Given the description of an element on the screen output the (x, y) to click on. 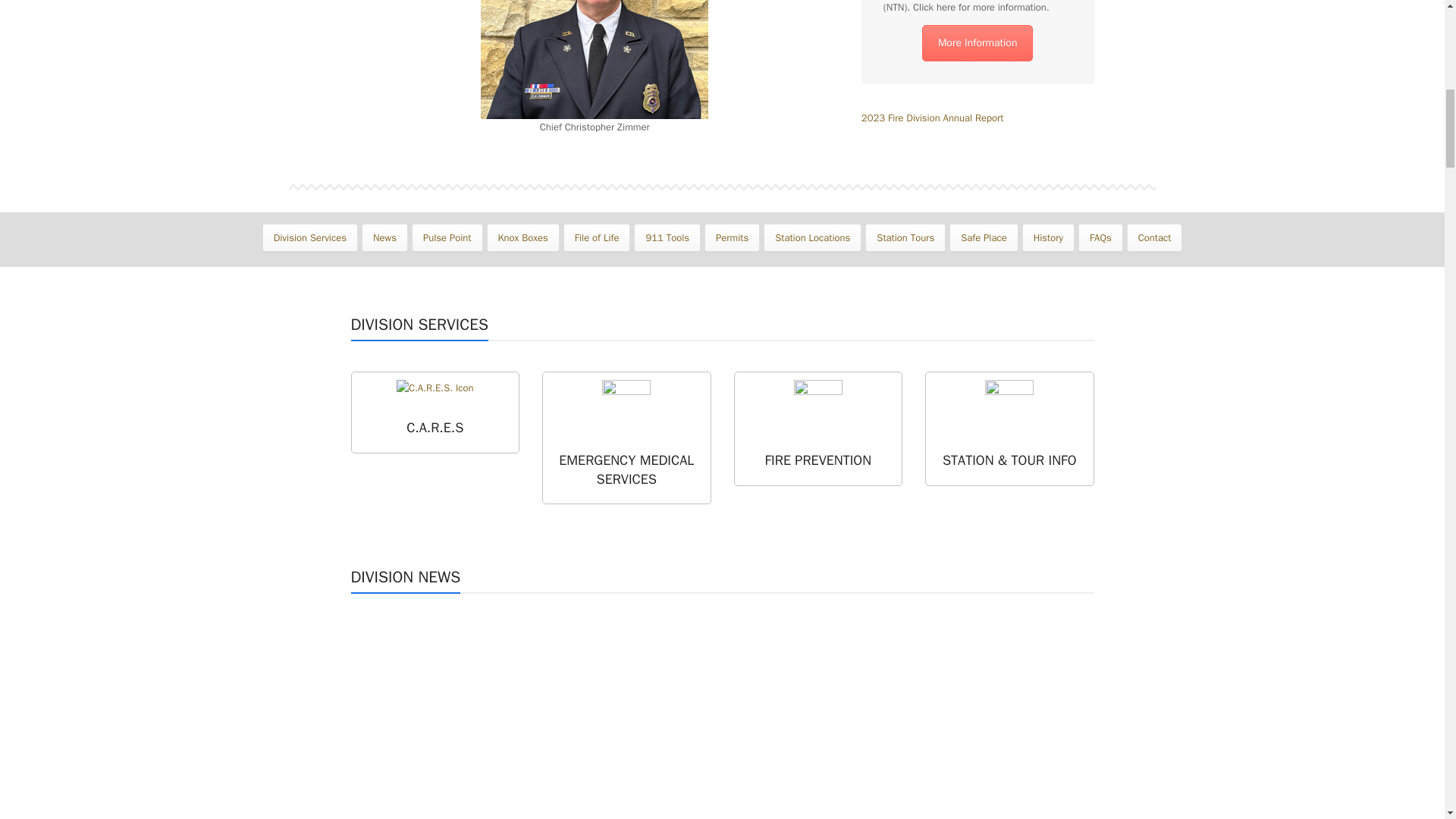
File of Life (596, 237)
Knox Boxes (522, 237)
Knox Boxes (522, 237)
Station Tours (904, 237)
News (384, 237)
More Information (977, 43)
News (384, 237)
ZimmerWeb (593, 59)
History (1048, 237)
Station Locations (811, 237)
FAQs (1100, 237)
Station Locations (811, 237)
2023 Fire Division Annual Report (932, 117)
Pulse Point (447, 237)
